Given the description of an element on the screen output the (x, y) to click on. 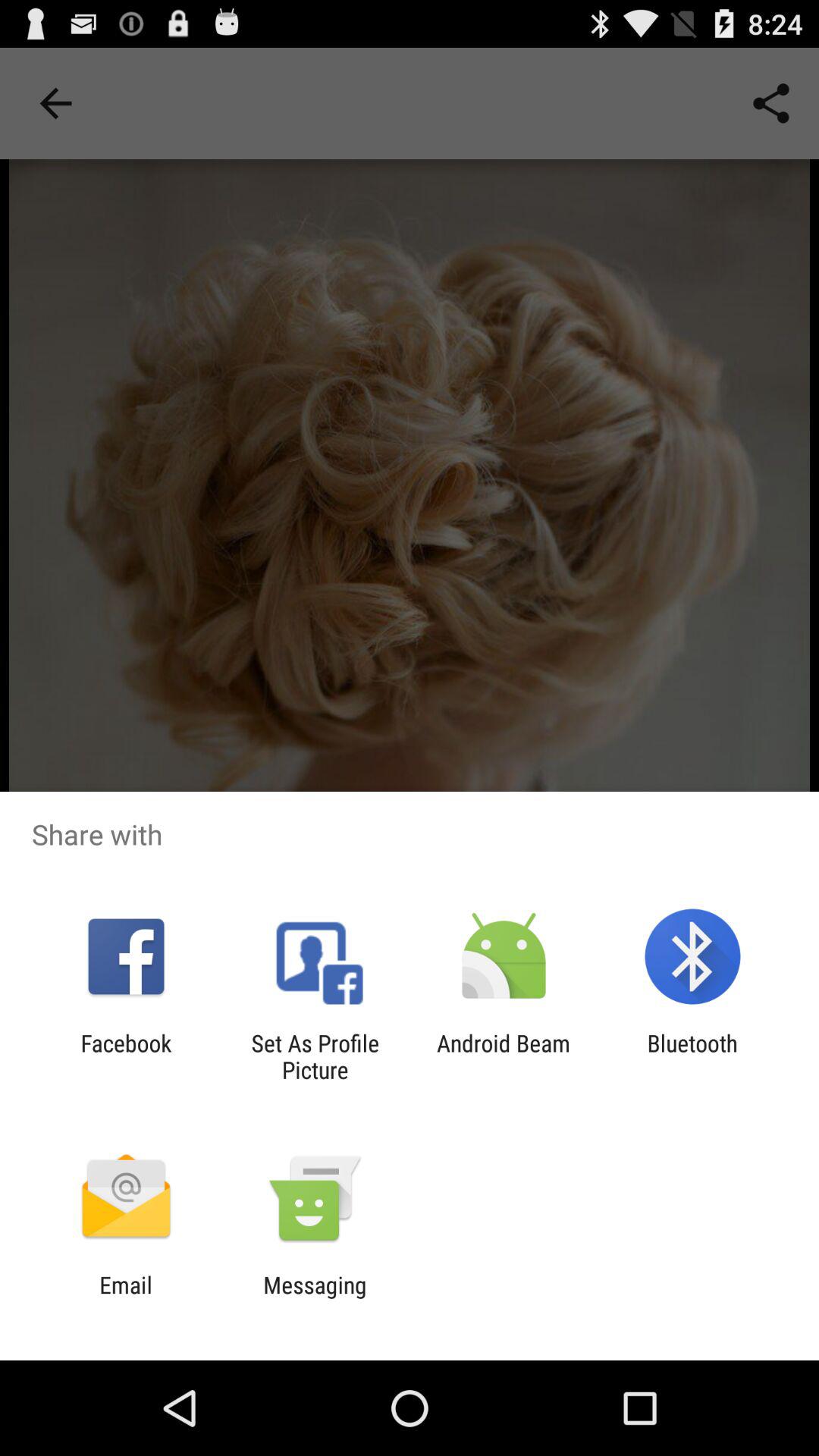
choose the android beam app (503, 1056)
